Given the description of an element on the screen output the (x, y) to click on. 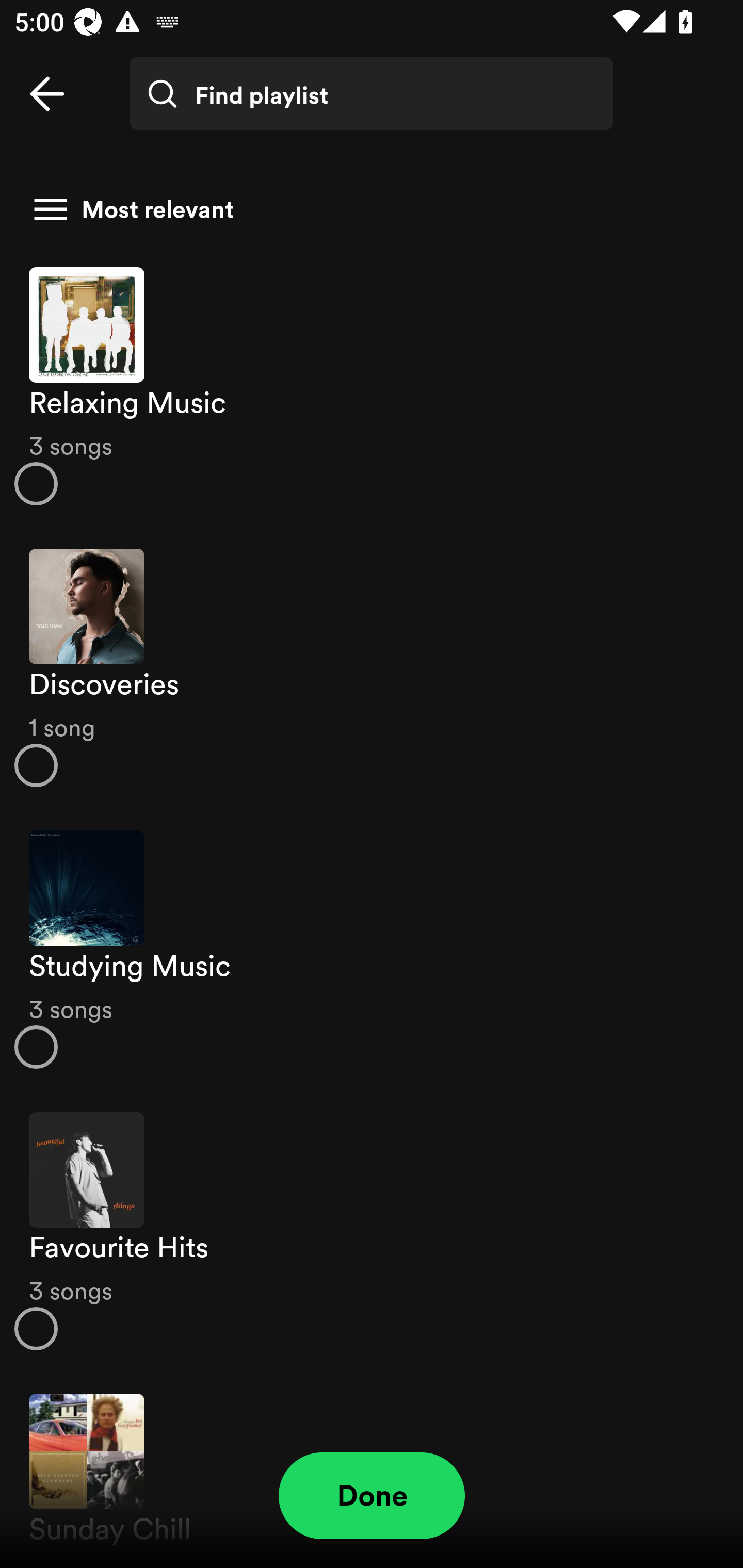
Back (46, 93)
Find playlist (371, 94)
Most relevant (363, 209)
Relaxing Music 3 songs (371, 386)
Discoveries 1 song (371, 667)
Studying Music 3 songs (371, 949)
Favourite Hits 3 songs (371, 1230)
Sunday Chill 10 songs (371, 1470)
Done (371, 1495)
